Given the description of an element on the screen output the (x, y) to click on. 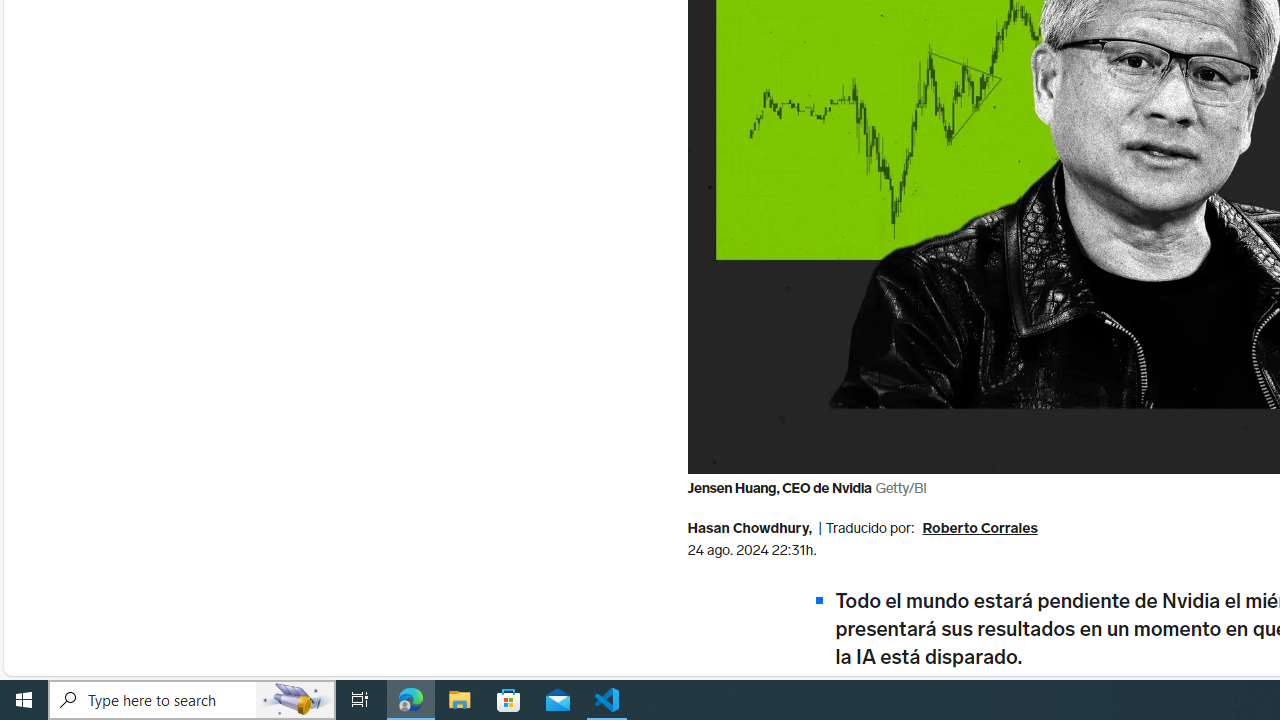
Roberto Corrales (979, 529)
